Given the description of an element on the screen output the (x, y) to click on. 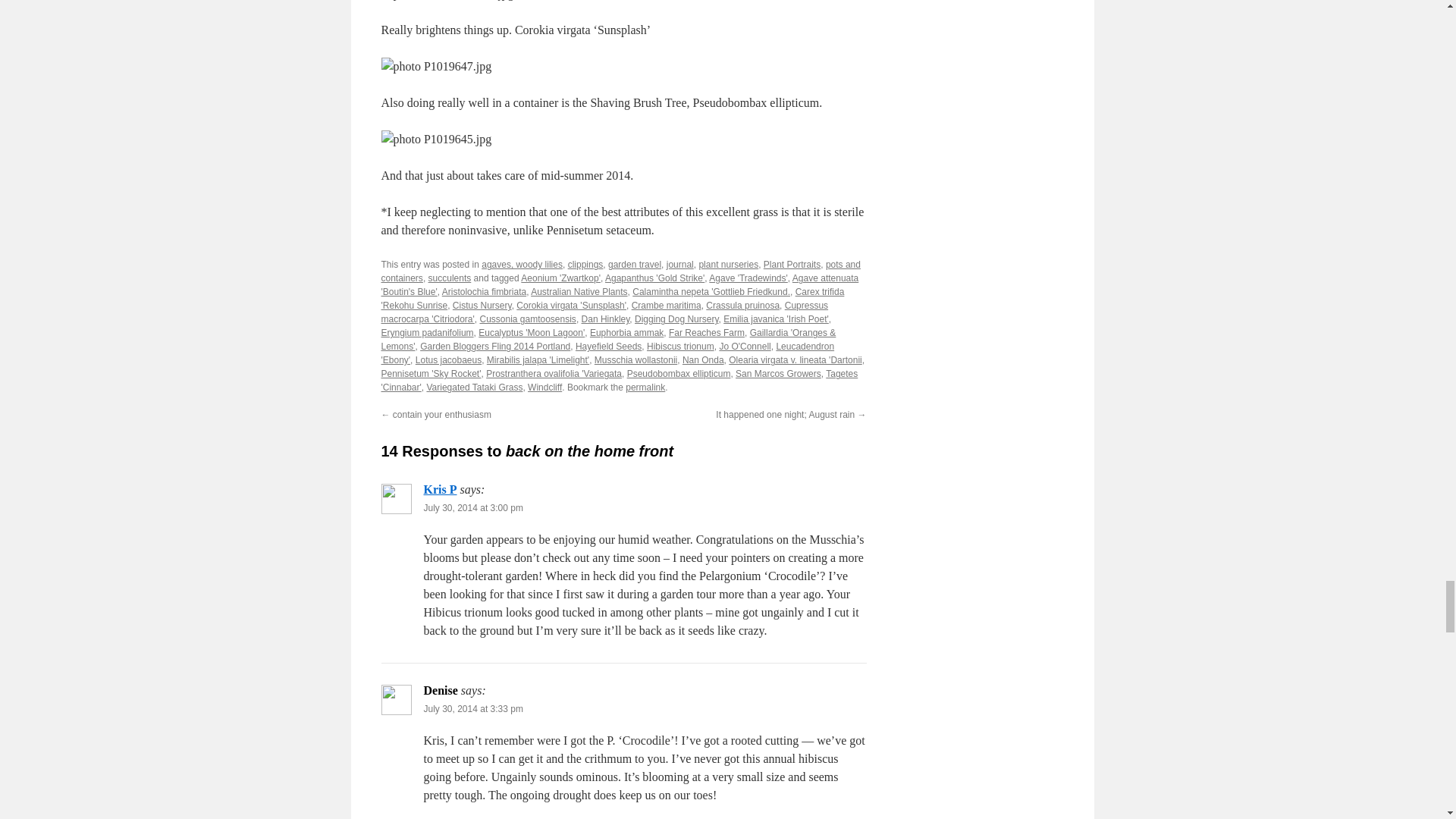
Calamintha nepeta 'Gottlieb Friedkund. (710, 291)
clippings (585, 264)
Corokia virgata 'Sunsplash' (571, 305)
journal (680, 264)
Agapanthus 'Gold Strike' (654, 277)
Aeonium 'Zwartkop' (560, 277)
agaves, woody lilies (521, 264)
pots and containers (620, 271)
Permalink to back on the home front (645, 387)
Aristolochia fimbriata (483, 291)
